Given the description of an element on the screen output the (x, y) to click on. 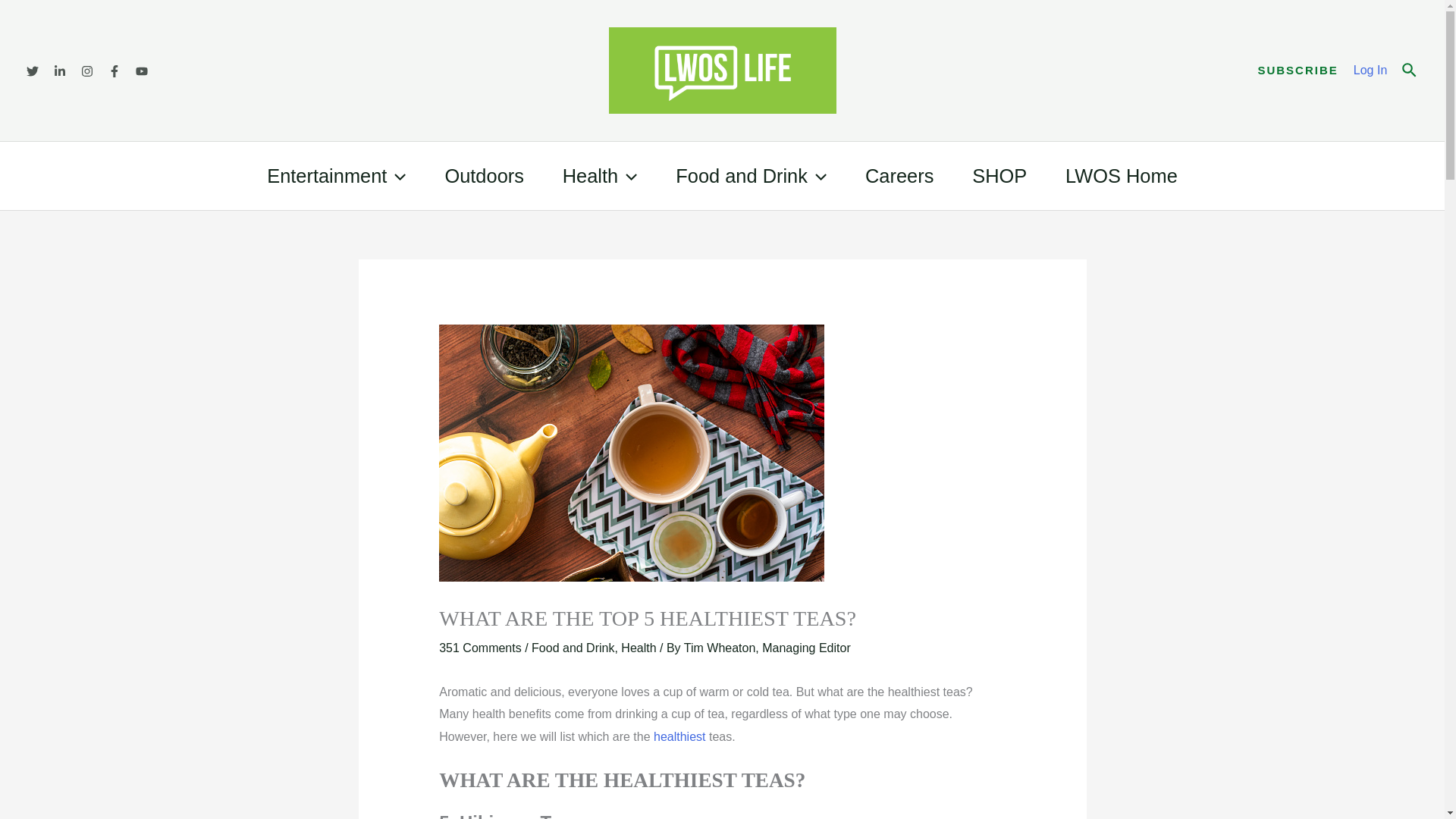
Tim Wheaton, Managing Editor (767, 647)
SHOP (999, 175)
Careers (899, 175)
SUBSCRIBE (1297, 70)
View all posts by Tim Wheaton, Managing Editor (767, 647)
LWOS Home (1121, 175)
Entertainment (336, 175)
Health (599, 175)
Health (638, 647)
Log In (1370, 69)
Food and Drink (750, 175)
351 Comments (480, 647)
Food and Drink (572, 647)
healthiest (679, 736)
Outdoors (484, 175)
